Given the description of an element on the screen output the (x, y) to click on. 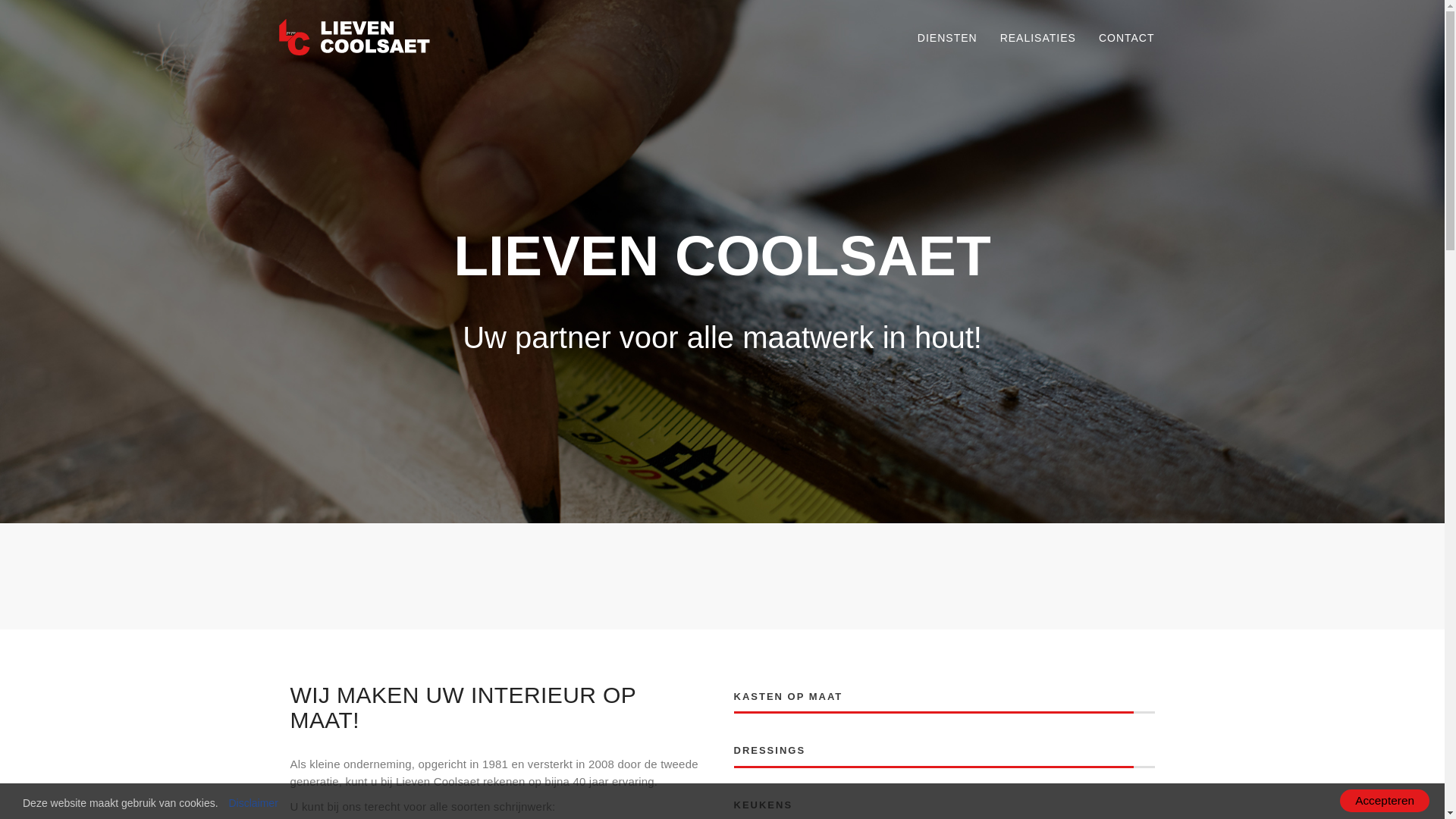
Disclaimer Element type: text (252, 802)
Accepteren Element type: text (1384, 800)
CONTACT Element type: text (1126, 37)
DIENSTEN Element type: text (947, 37)
REALISATIES Element type: text (1037, 37)
